Given the description of an element on the screen output the (x, y) to click on. 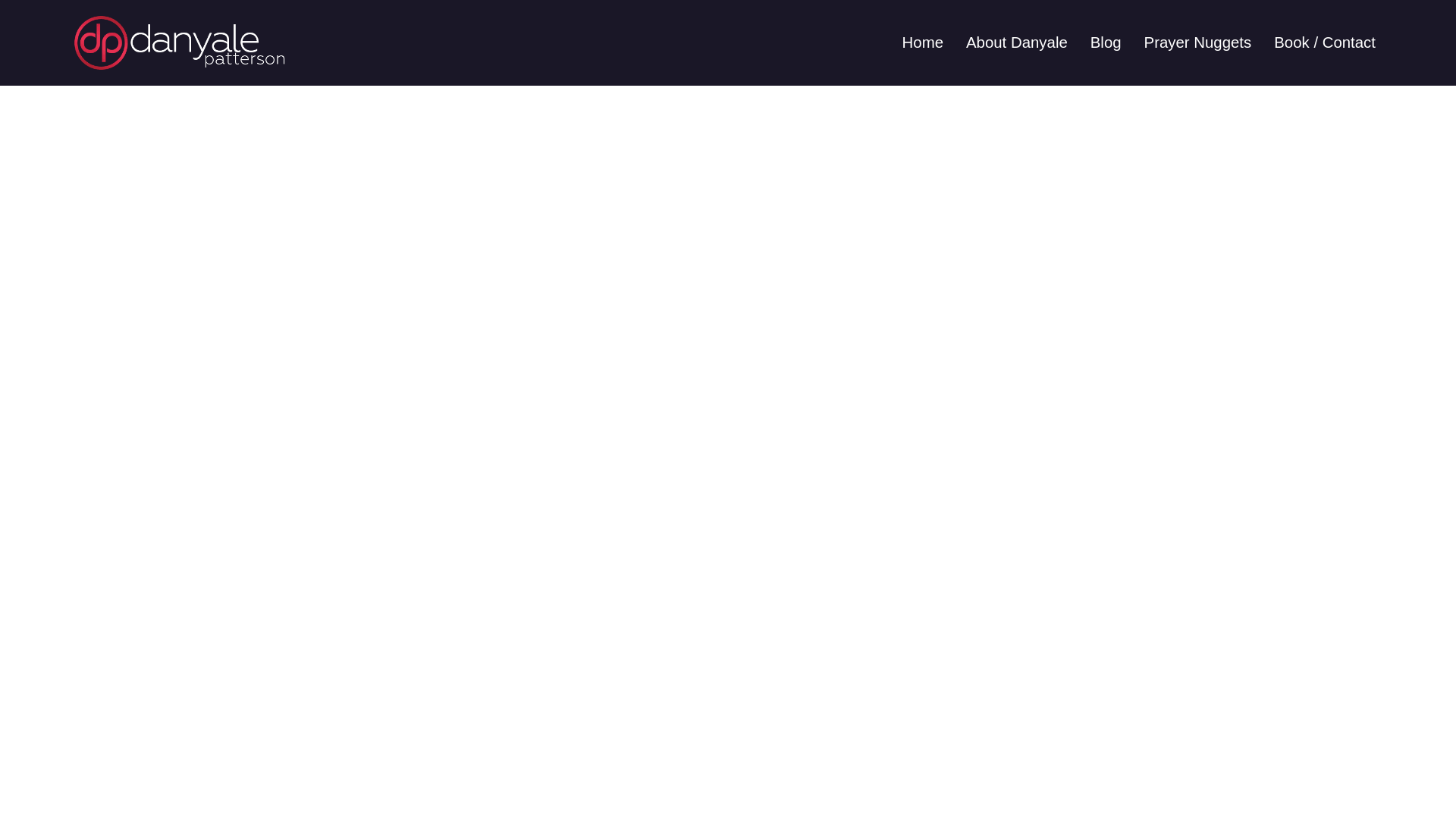
Prayer Nuggets (1197, 42)
Home (923, 42)
Blog (1105, 42)
About Danyale (1016, 42)
